Given the description of an element on the screen output the (x, y) to click on. 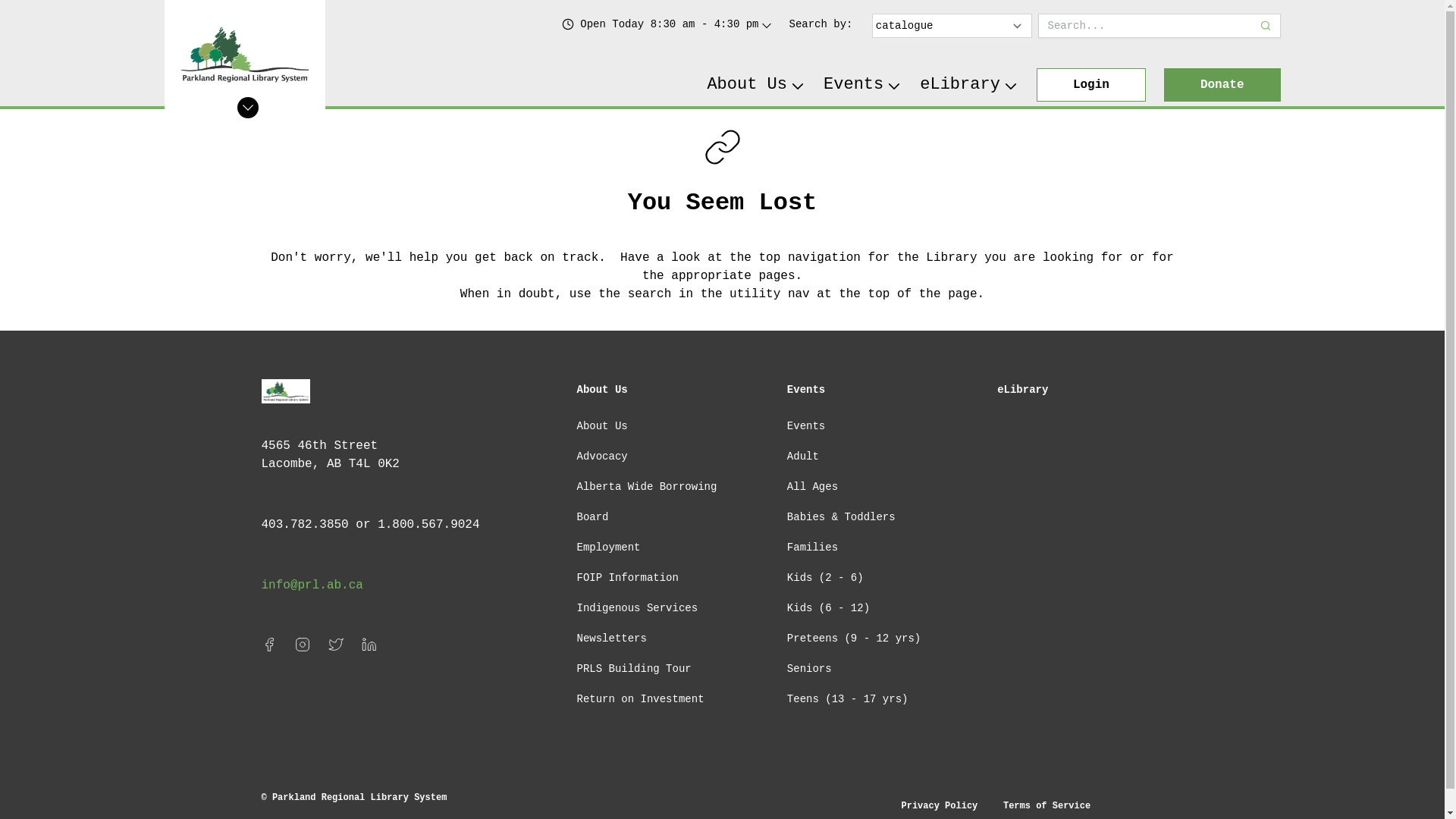
All Ages Element type: text (812, 486)
Advocacy Element type: text (601, 456)
Events Element type: text (806, 426)
FOIP Information Element type: text (626, 577)
Employment Element type: text (608, 547)
Return on Investment Element type: text (639, 699)
Terms of Service Element type: text (1046, 805)
Privacy Policy Element type: text (938, 805)
PRLS Building Tour Element type: text (633, 668)
About Us Element type: text (601, 426)
Donate Element type: text (1222, 84)
eLibrary Element type: text (968, 84)
Teens (13 - 17 yrs) Element type: text (847, 699)
Families Element type: text (812, 547)
Preteens (9 - 12 yrs) Element type: text (853, 638)
info@prl.ab.ca Element type: text (311, 585)
Events Element type: text (862, 84)
Seniors Element type: text (809, 668)
Newsletters Element type: text (611, 638)
eLibrary Element type: text (1022, 389)
Events Element type: text (806, 389)
Alberta Wide Borrowing Element type: text (646, 486)
Adult Element type: text (803, 456)
Babies & Toddlers Element type: text (841, 517)
About Us Element type: text (601, 389)
Kids (6 - 12) Element type: text (828, 608)
Login Element type: text (1090, 84)
Kids (2 - 6) Element type: text (825, 577)
Indigenous Services Element type: text (636, 608)
Board Element type: text (592, 517)
About Us Element type: text (755, 84)
